Given the description of an element on the screen output the (x, y) to click on. 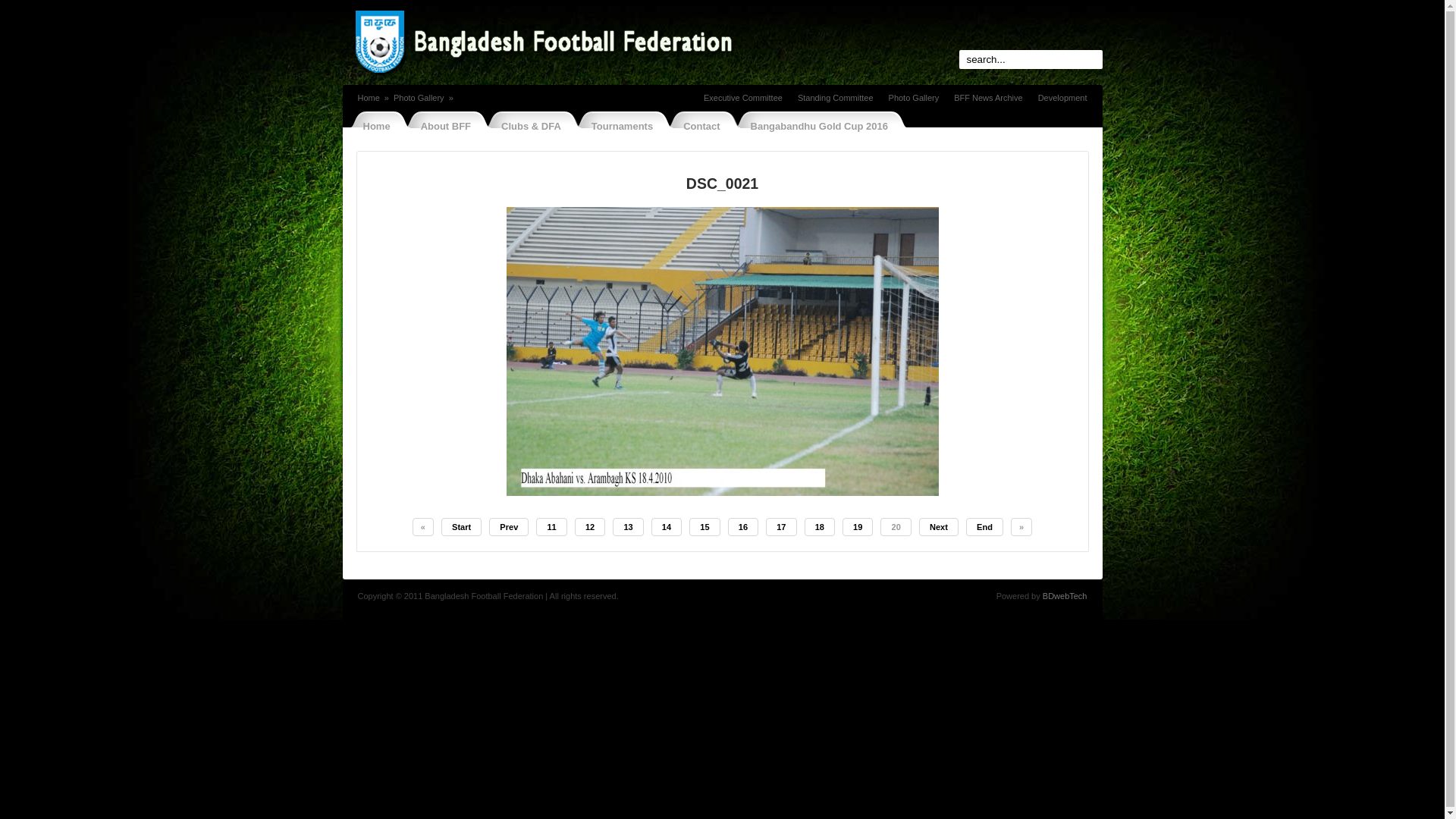
Bangabandhu Gold Cup 2016 Element type: text (814, 126)
16 Element type: text (742, 526)
BDwebTech Element type: text (1064, 595)
15 Element type: text (704, 526)
Development Element type: text (1062, 97)
Home Element type: text (368, 97)
13 Element type: text (627, 526)
BFF News Archive Element type: text (987, 97)
About BFF Element type: text (440, 126)
Contact Element type: text (696, 126)
17 Element type: text (780, 526)
Photo Gallery Element type: text (418, 97)
End Element type: text (984, 526)
Clubs & DFA Element type: text (526, 126)
Photo Gallery Element type: text (913, 97)
19 Element type: text (857, 526)
Executive Committee Element type: text (742, 97)
12 Element type: text (589, 526)
18 Element type: text (819, 526)
Start Element type: text (460, 526)
Home Element type: text (372, 126)
Prev Element type: text (508, 526)
Standing Committee Element type: text (835, 97)
Next Element type: text (938, 526)
11 Element type: text (550, 526)
Tournaments Element type: text (617, 126)
14 Element type: text (666, 526)
